Given the description of an element on the screen output the (x, y) to click on. 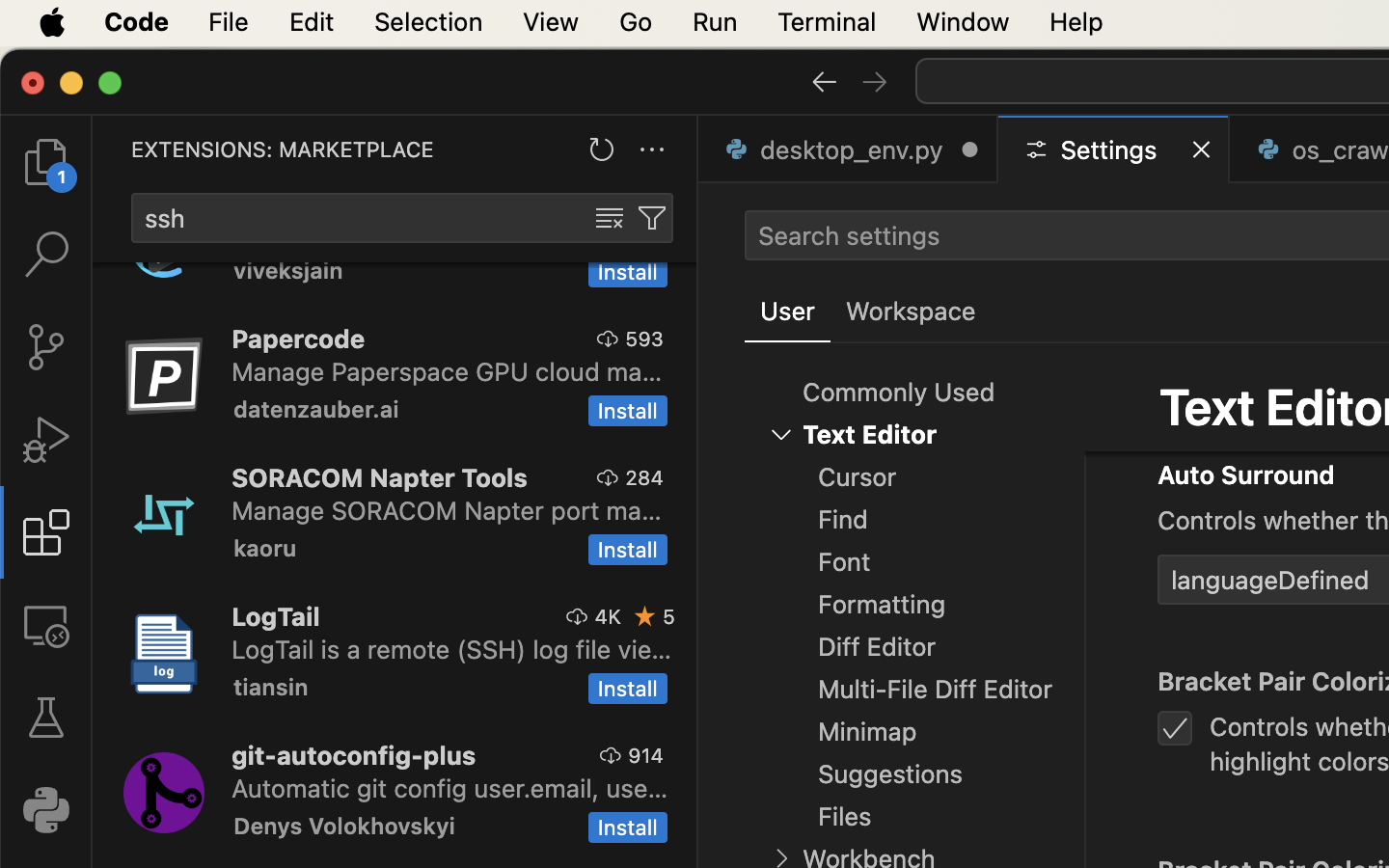
Manage SORACOM Napter port mappings from Visual Studio Code. Element type: AXStaticText (446, 509)
Text Editor Element type: AXStaticText (869, 434)
LogTail is a remote (SSH) log file viewer and monitoring extension. Element type: AXStaticText (452, 648)
 Element type: AXButton (824, 80)
 Element type: AXButton (609, 217)
